Given the description of an element on the screen output the (x, y) to click on. 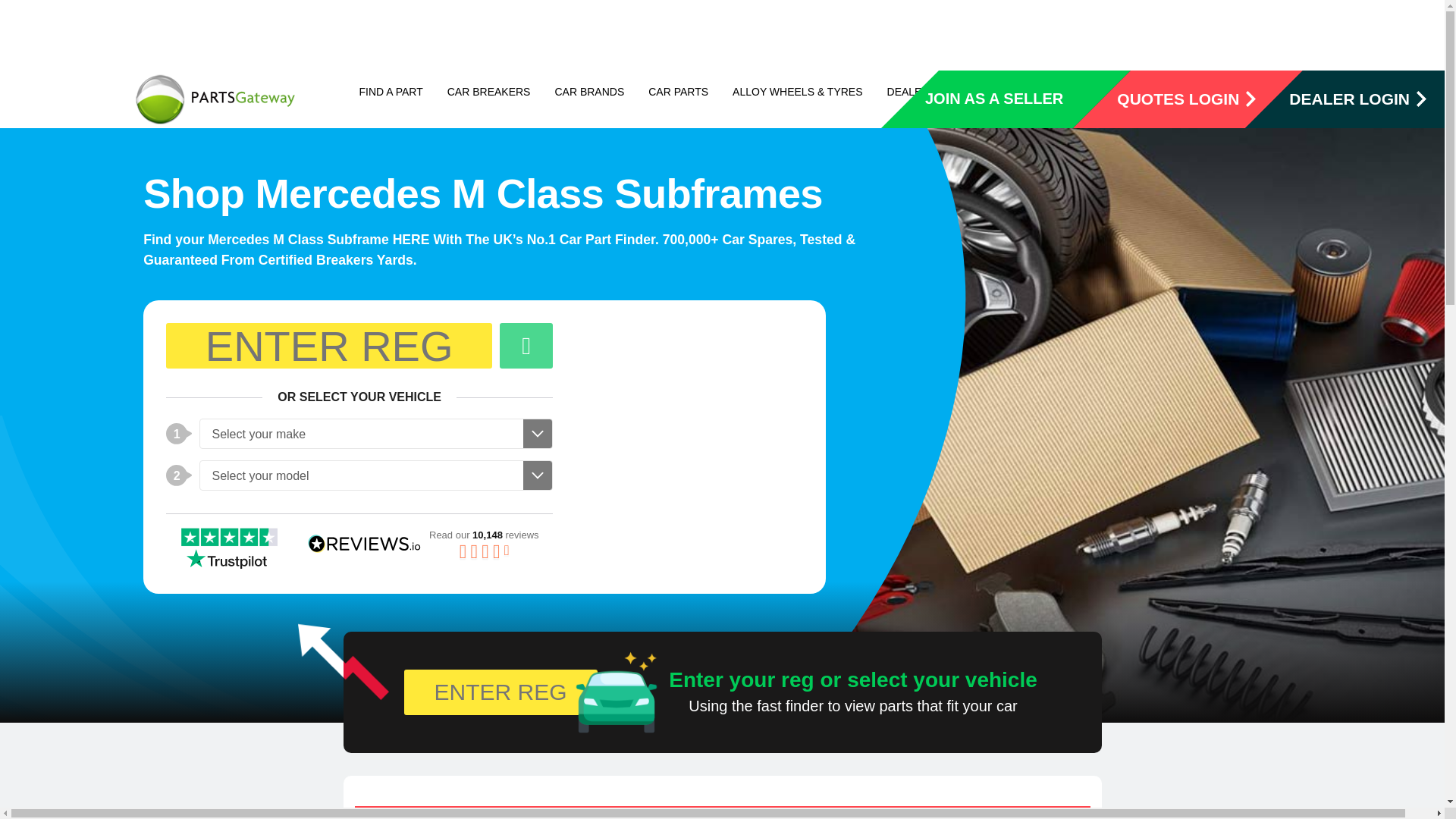
Advertisement (1168, 33)
Reviews Badge Ribbon Widget (421, 544)
FIND A PART (390, 91)
Advertisement (681, 417)
CAR BREAKERS (488, 91)
